Given the description of an element on the screen output the (x, y) to click on. 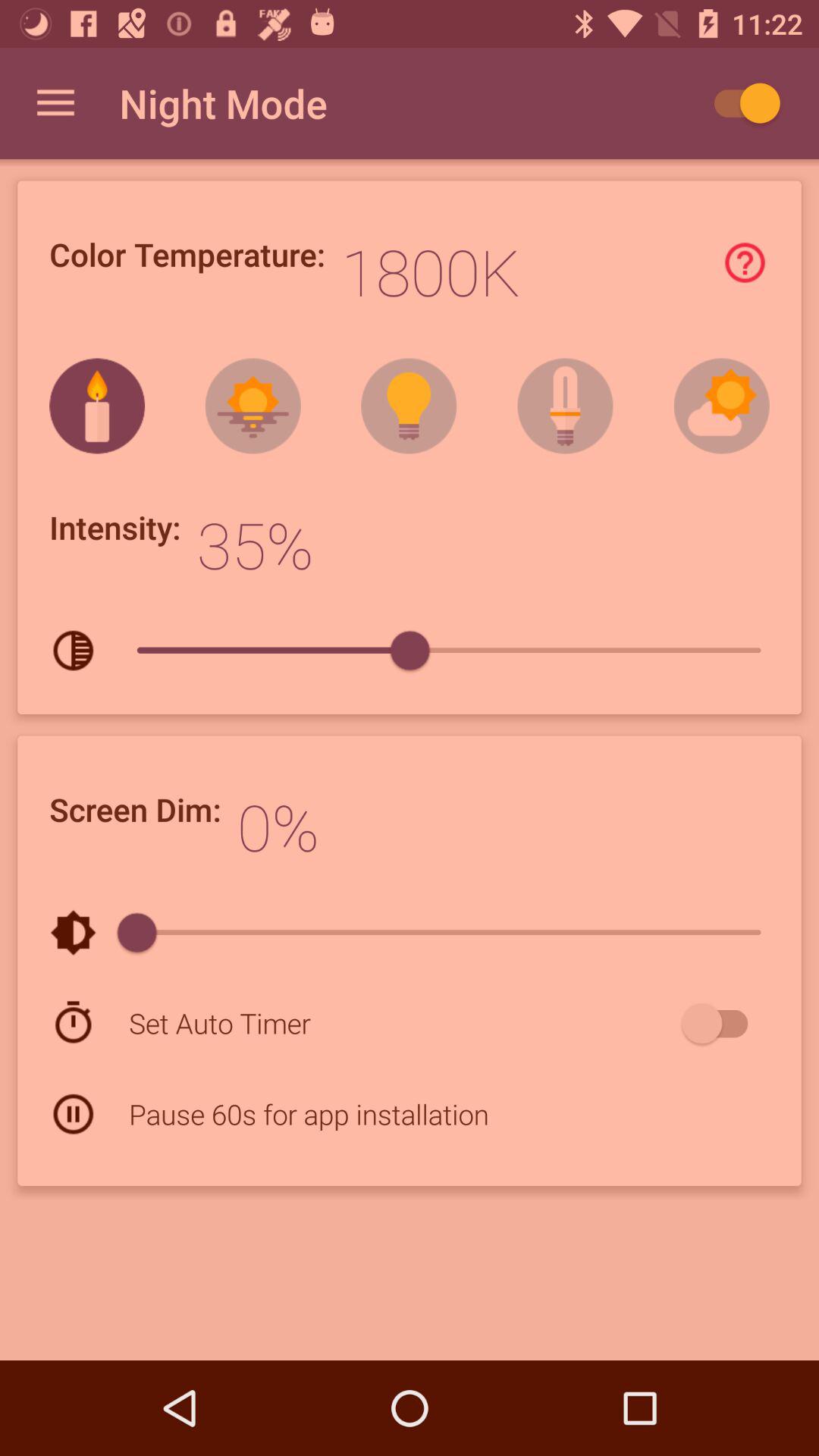
tap item above pause 60s for (402, 1022)
